Given the description of an element on the screen output the (x, y) to click on. 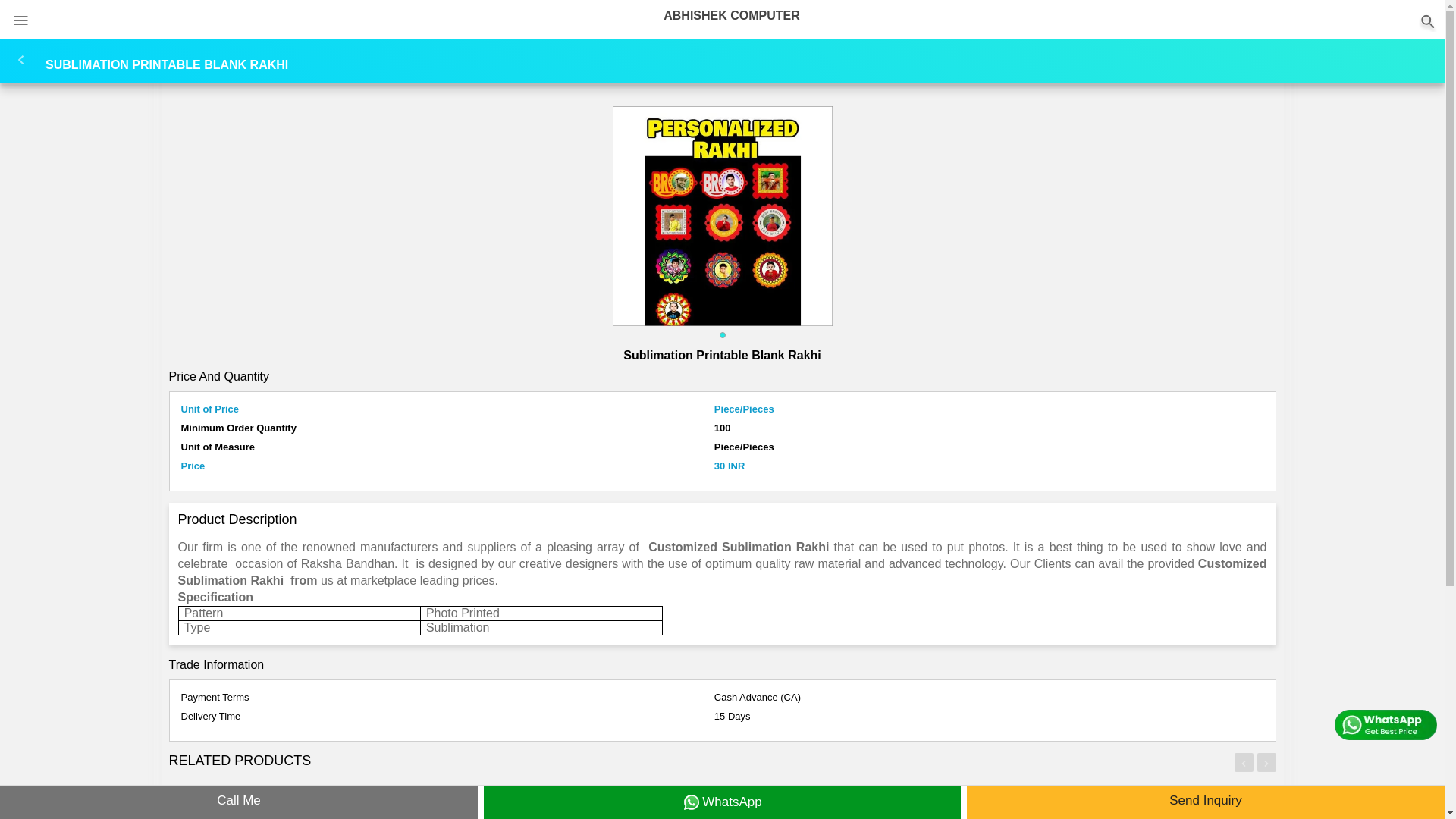
WhatsApp (721, 802)
Call Me (238, 802)
